Given the description of an element on the screen output the (x, y) to click on. 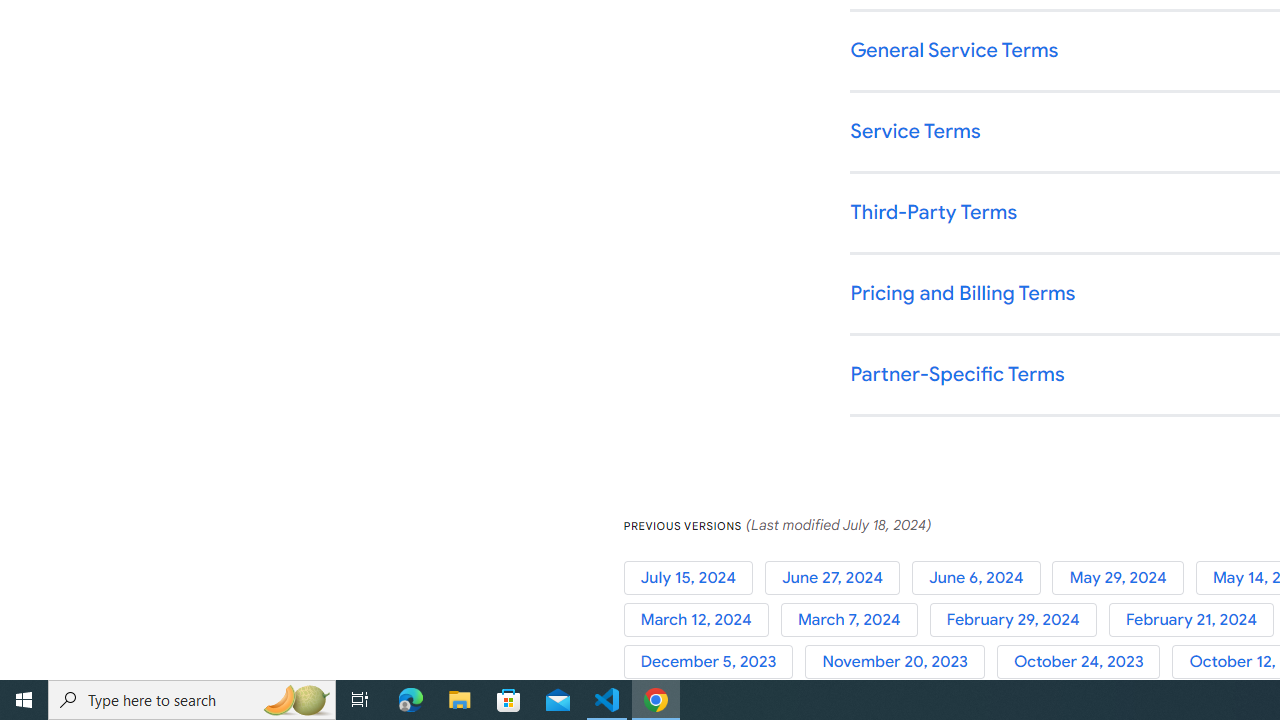
Print (104, 168)
Options (104, 605)
Account (104, 551)
Export (104, 223)
Transform (104, 278)
